Given the description of an element on the screen output the (x, y) to click on. 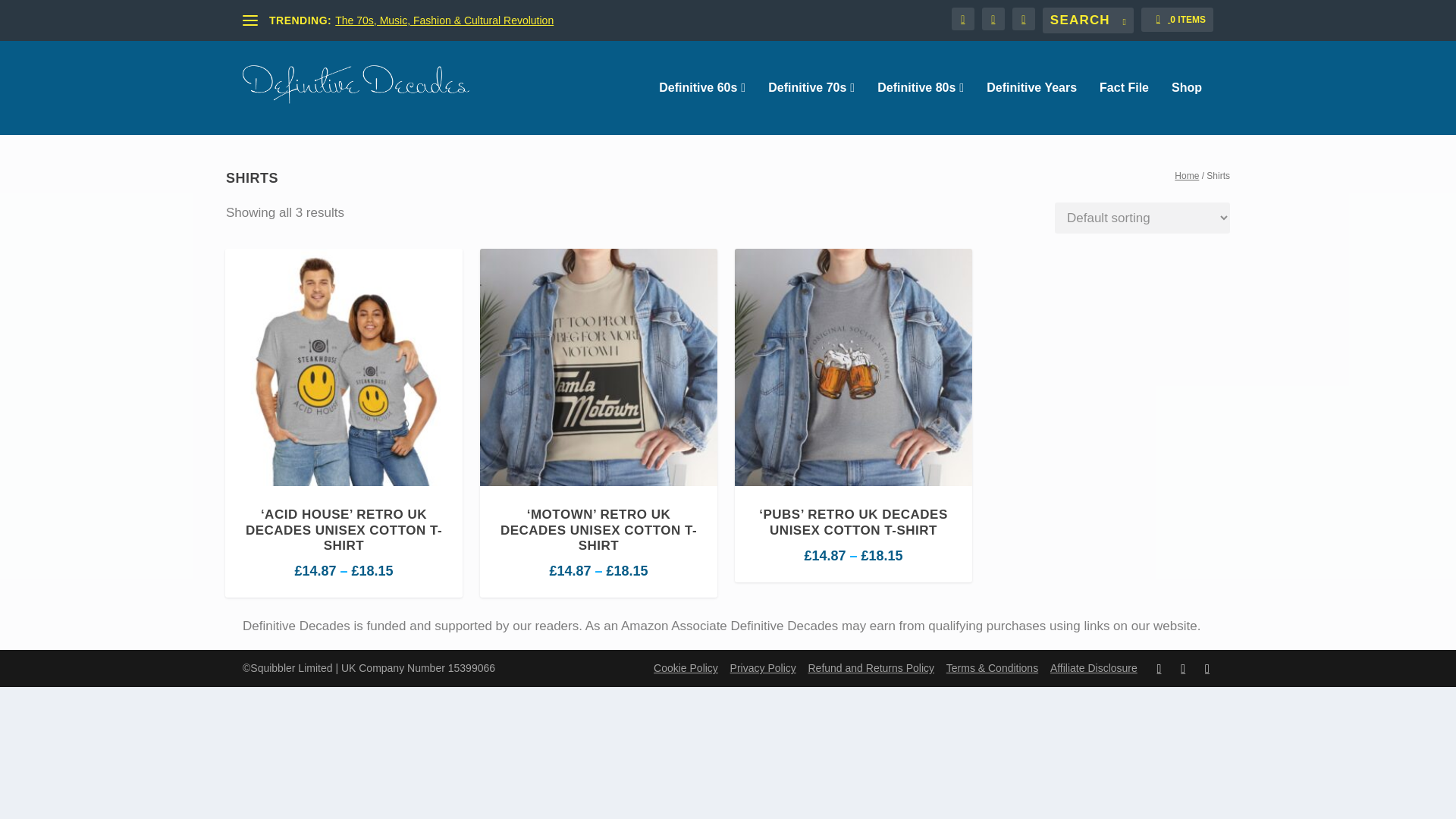
Search for: (1088, 20)
Definitive 60s (702, 108)
0 Items in Cart (1176, 19)
Shop (1187, 108)
Definitive 70s (811, 108)
Definitive Years (1032, 108)
Definitive 80s (920, 108)
0 ITEMS (1176, 19)
Fact File (1123, 108)
